Given the description of an element on the screen output the (x, y) to click on. 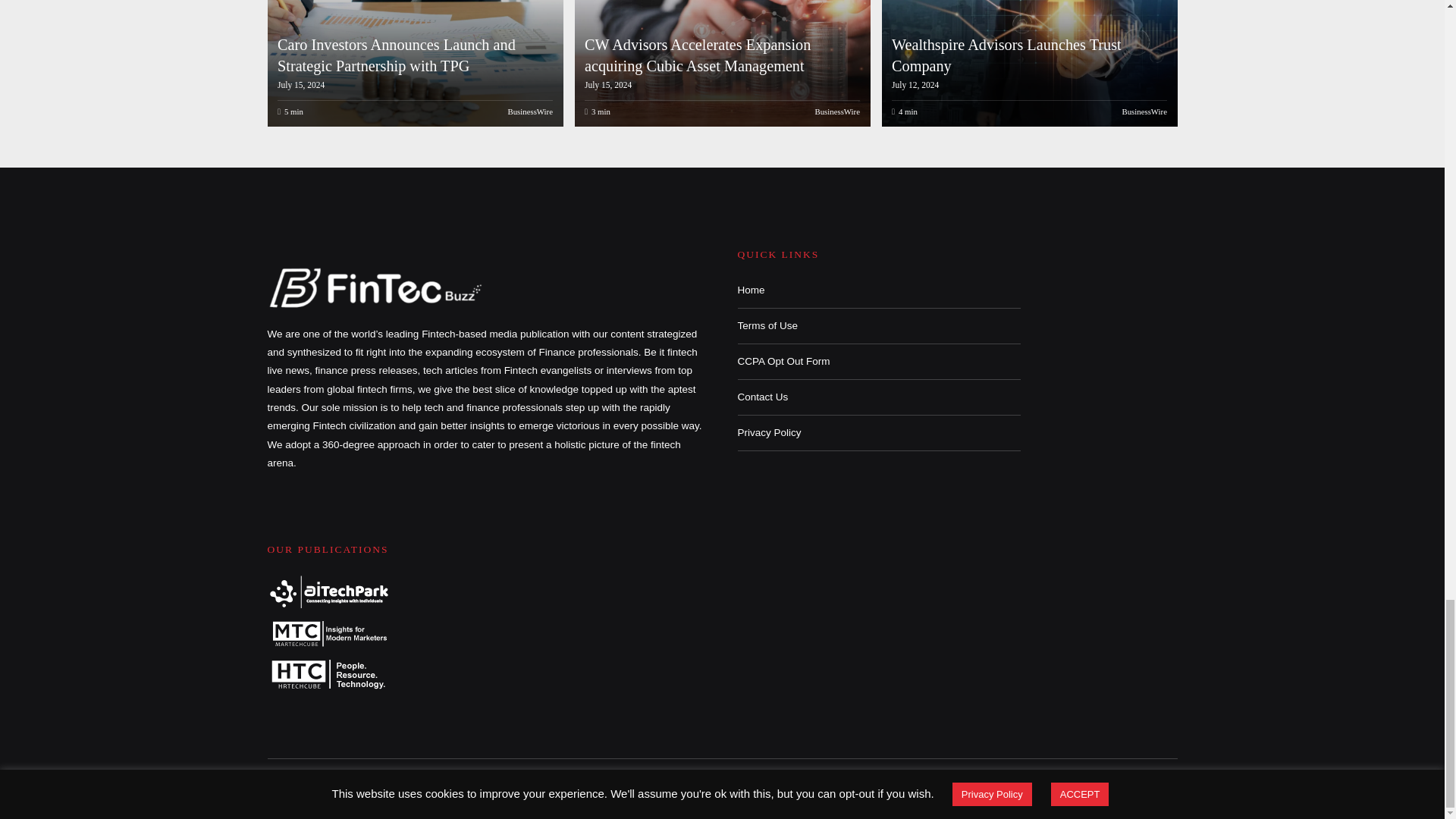
Wealthspire Advisors Launches Trust Company (1006, 55)
Wealthspire Advisors Launches Trust Company (1026, 63)
newOriginal-white-FinTech1-1 (376, 286)
